Given the description of an element on the screen output the (x, y) to click on. 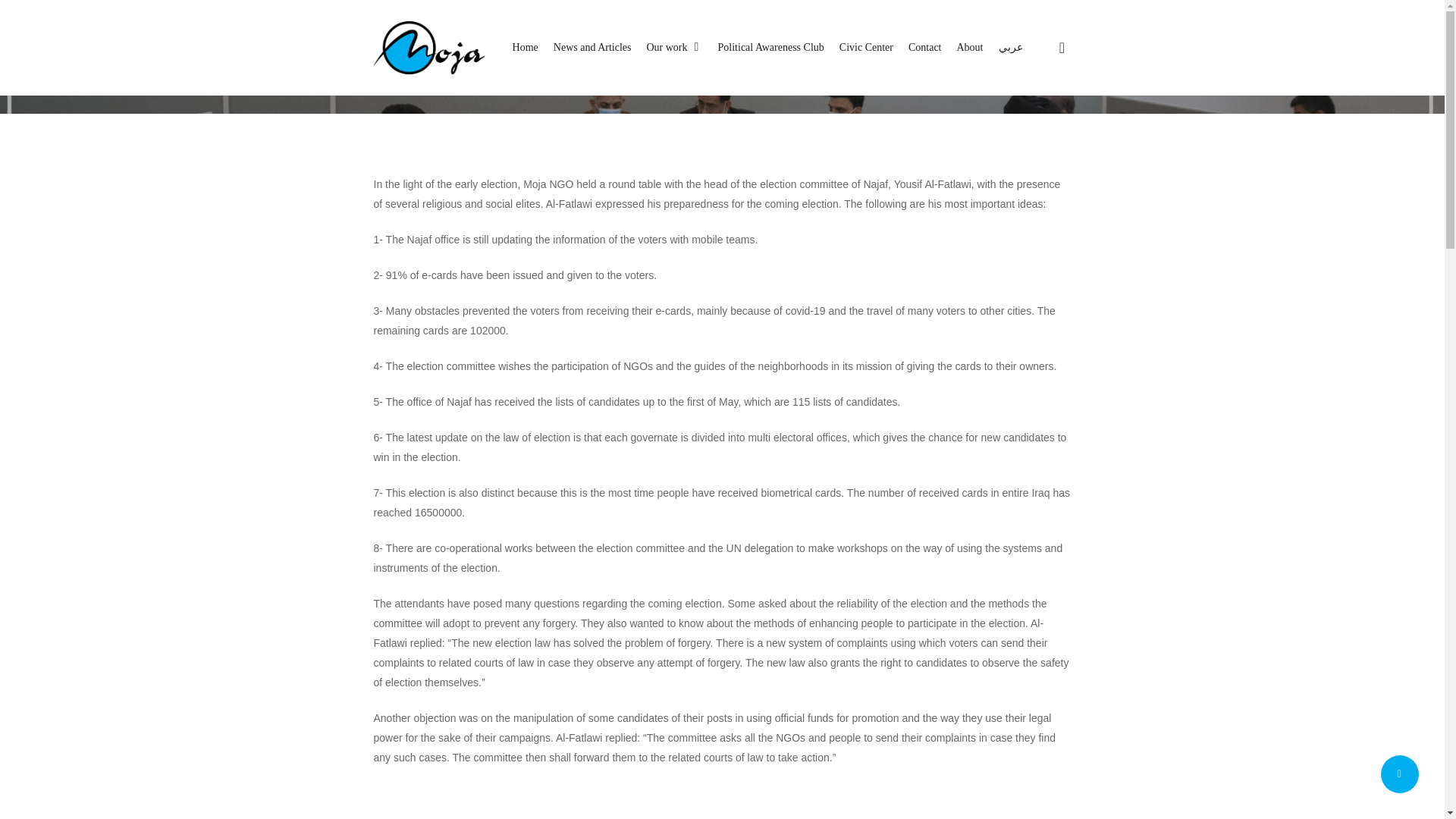
Home (450, 573)
Our work (673, 47)
twitter (669, 689)
Governance (887, 573)
Civic Center (866, 47)
Human Rights (646, 573)
Home (525, 47)
Civic Center (974, 573)
Contact (925, 47)
About (751, 600)
News and Articles (537, 573)
search (1061, 47)
Democracy Promotion (770, 573)
Contact (696, 600)
About (970, 47)
